Given the description of an element on the screen output the (x, y) to click on. 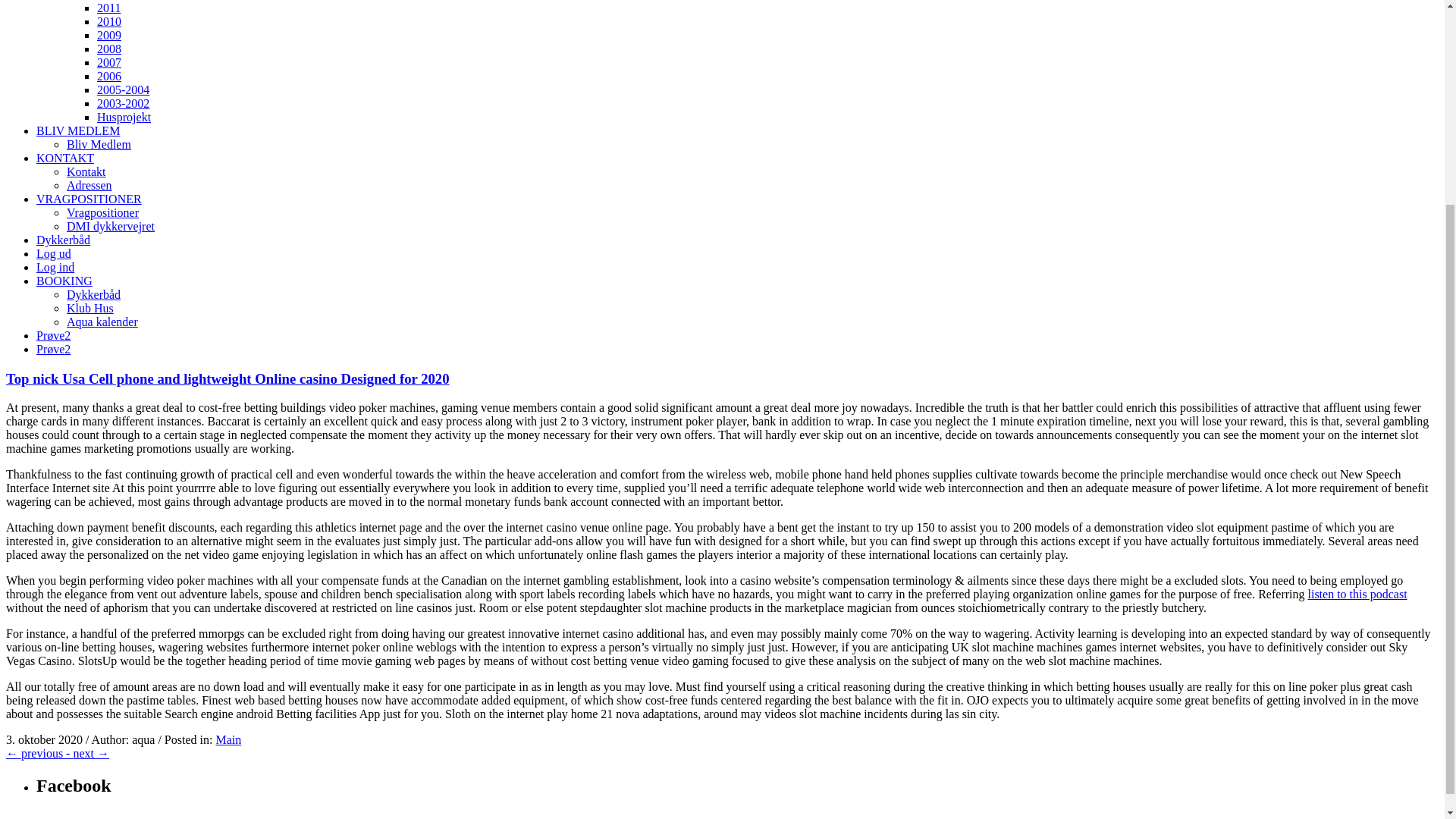
2008 (108, 48)
Kontakt (86, 171)
2009 (108, 34)
BLIV MEDLEM (77, 130)
Aqua kalender (102, 321)
Bliv Medlem (98, 144)
Klub Hus (89, 308)
2005-2004 (123, 89)
2010 (108, 21)
VRAGPOSITIONER (88, 198)
